Given the description of an element on the screen output the (x, y) to click on. 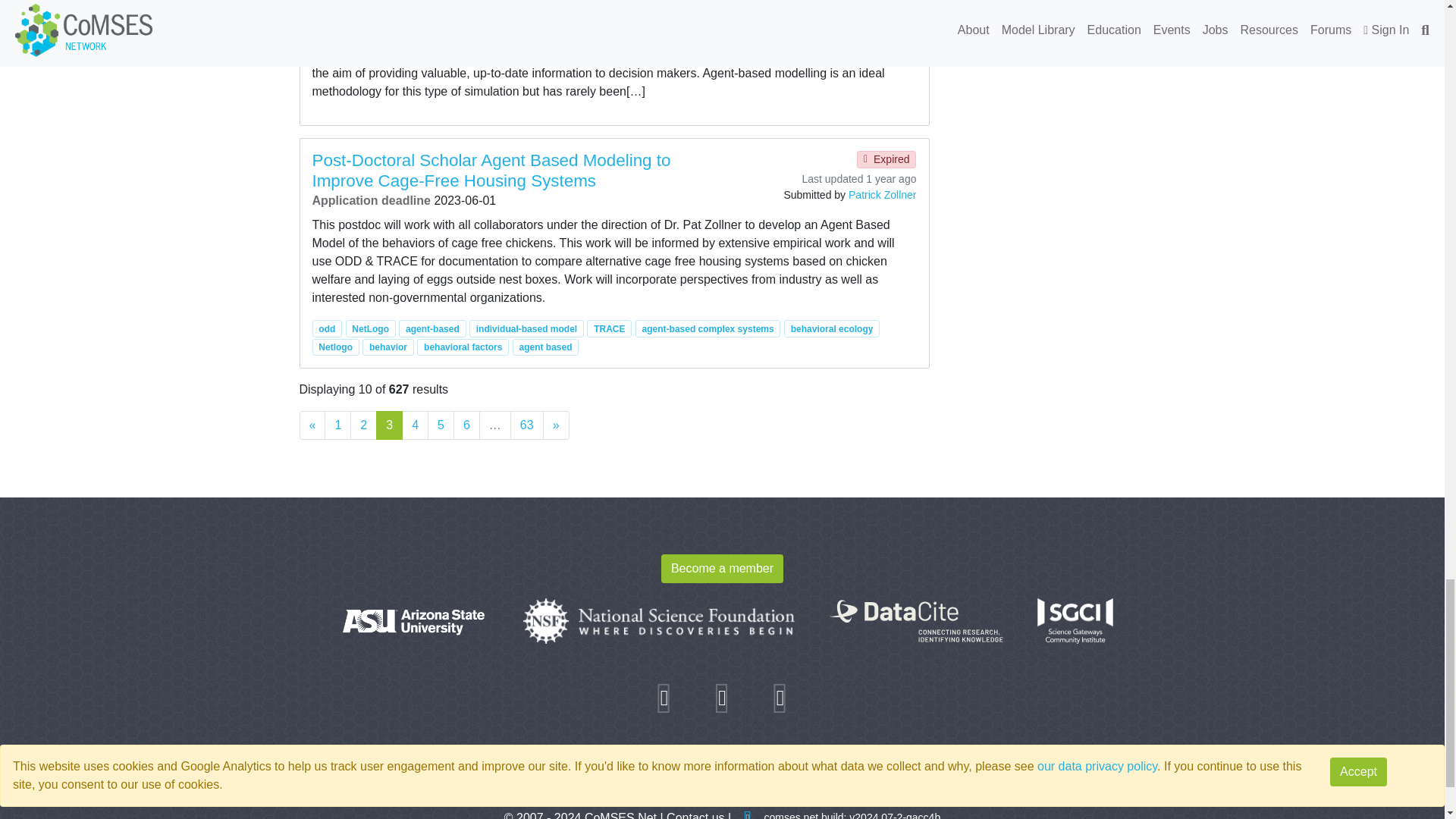
YouTube Channel (721, 695)
RSS Feed (780, 695)
